Given the description of an element on the screen output the (x, y) to click on. 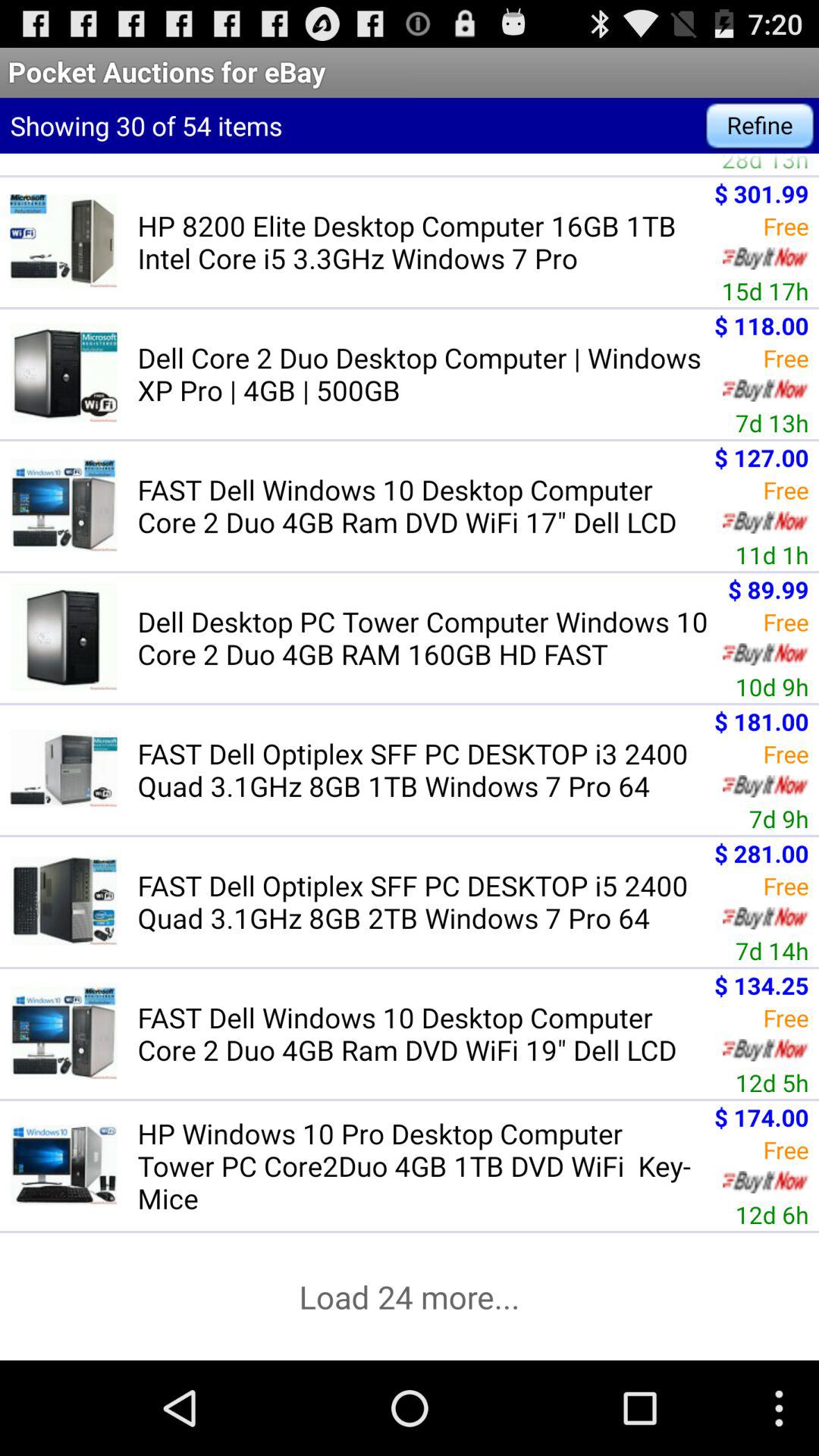
open icon next to the fast dell windows icon (771, 1082)
